Given the description of an element on the screen output the (x, y) to click on. 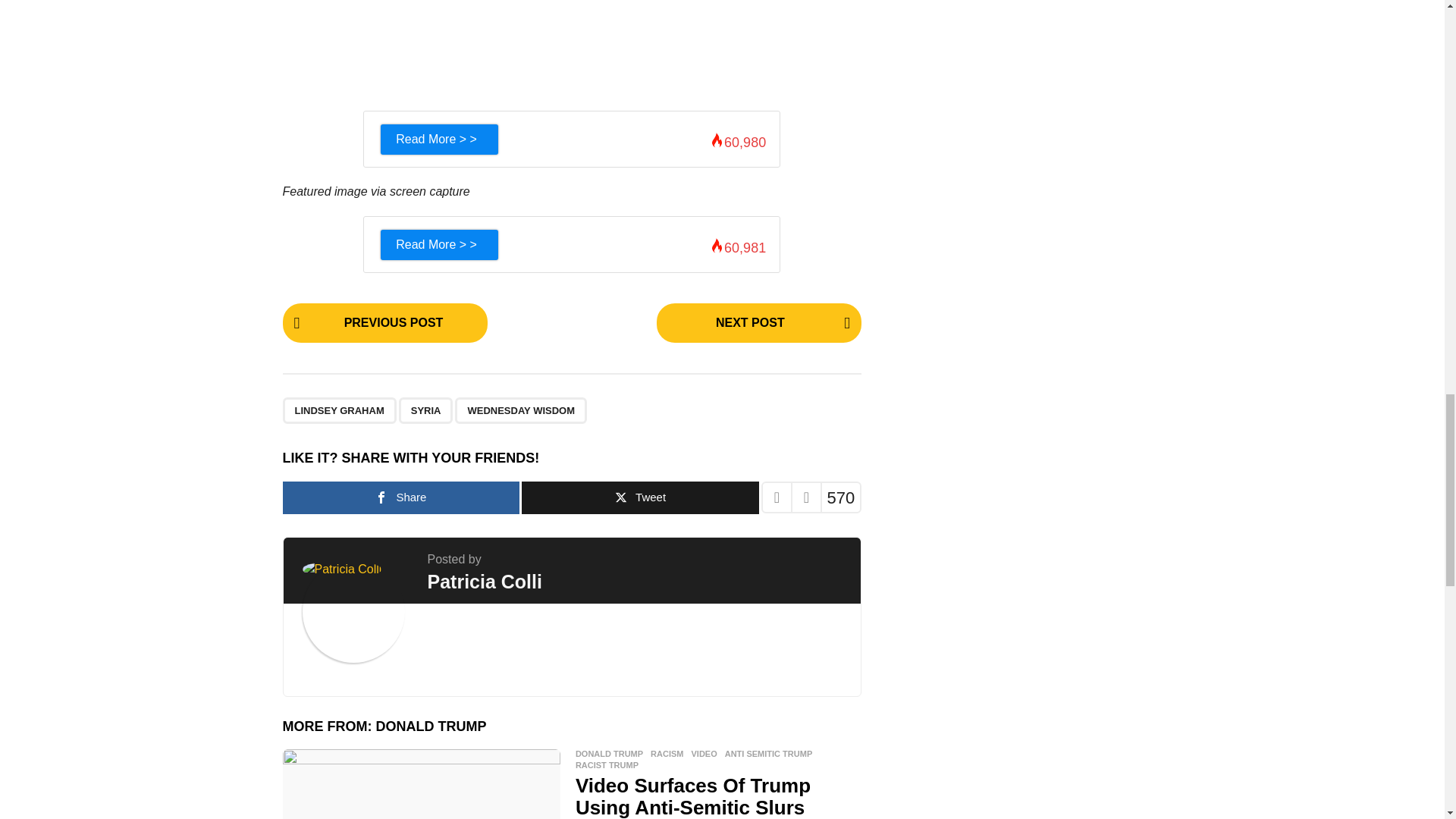
PREVIOUS POST (384, 323)
DONALD TRUMP (430, 726)
NEXT POST (758, 323)
Tweet (639, 497)
LINDSEY GRAHAM (339, 410)
DONALD TRUMP (609, 753)
Patricia Colli (484, 581)
WEDNESDAY WISDOM (520, 410)
SYRIA (425, 410)
